Given the description of an element on the screen output the (x, y) to click on. 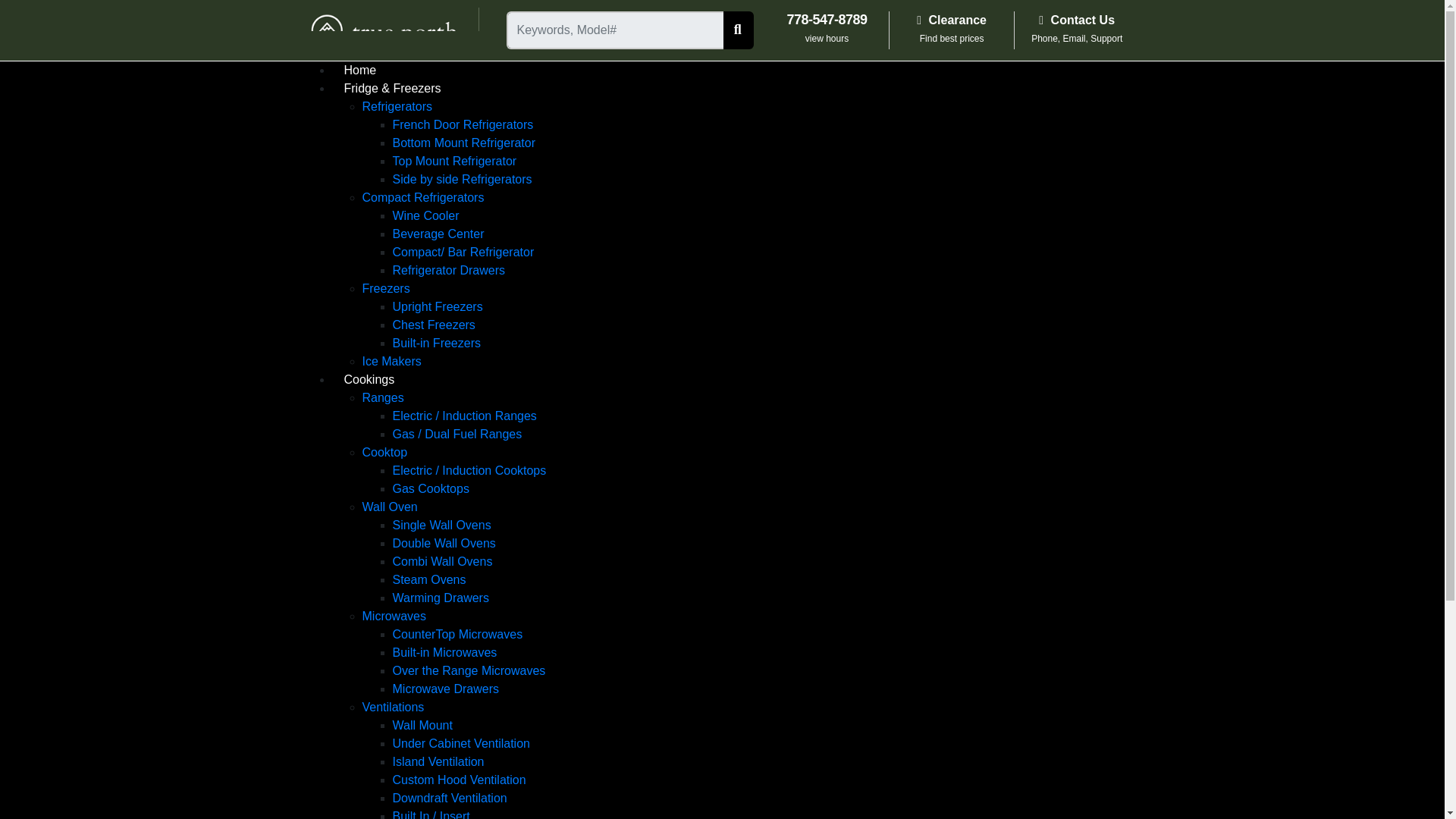
Gas Cooktops (430, 488)
Cookings (369, 379)
Ranges (383, 397)
Beverage Center (438, 233)
Top Mount Refrigerator (454, 160)
Side by side Refrigerators (462, 178)
Cooktop (384, 451)
Single Wall Ovens (442, 524)
Steam Ovens (1077, 30)
